Given the description of an element on the screen output the (x, y) to click on. 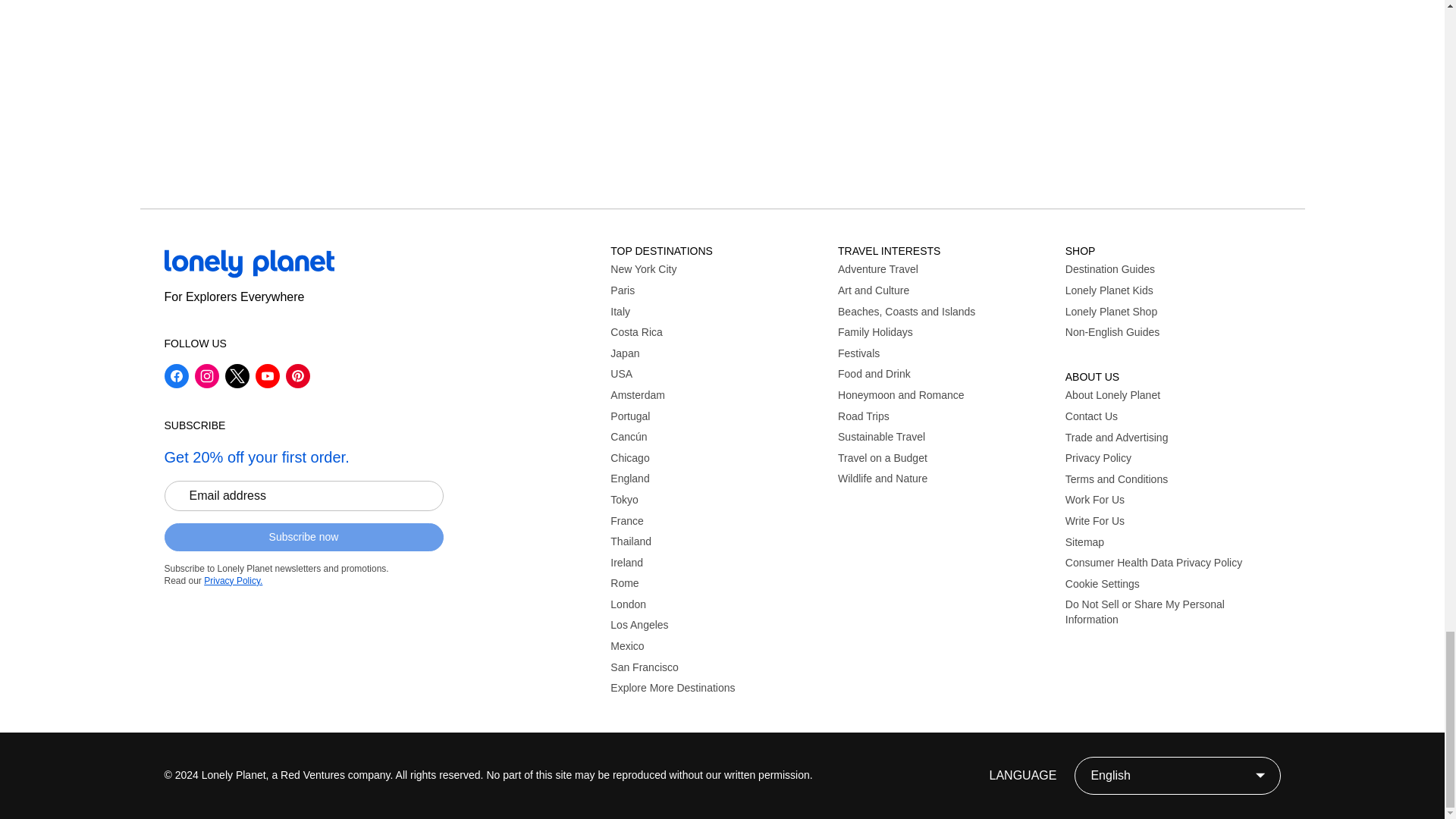
3rd party ad content (722, 87)
